Given the description of an element on the screen output the (x, y) to click on. 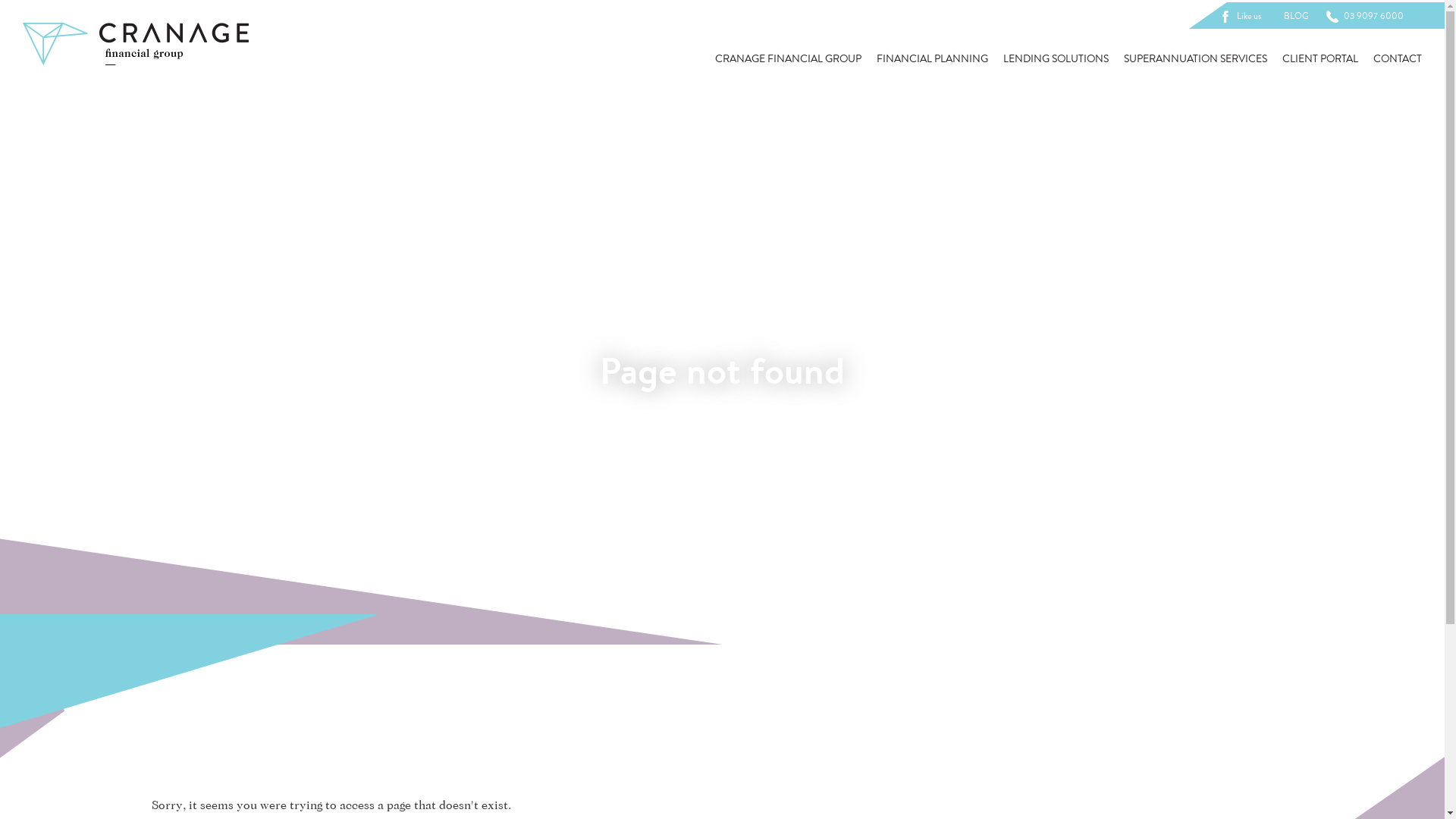
FINANCIAL PLANNING Element type: text (932, 59)
BLOG Element type: text (1296, 15)
Like us Element type: text (1242, 15)
03 9097 6000 Element type: text (1367, 15)
LENDING SOLUTIONS Element type: text (1055, 59)
SUPERANNUATION SERVICES Element type: text (1195, 59)
CLIENT PORTAL Element type: text (1320, 59)
CONTACT Element type: text (1397, 59)
CRANAGE FINANCIAL GROUP Element type: text (788, 59)
